Given the description of an element on the screen output the (x, y) to click on. 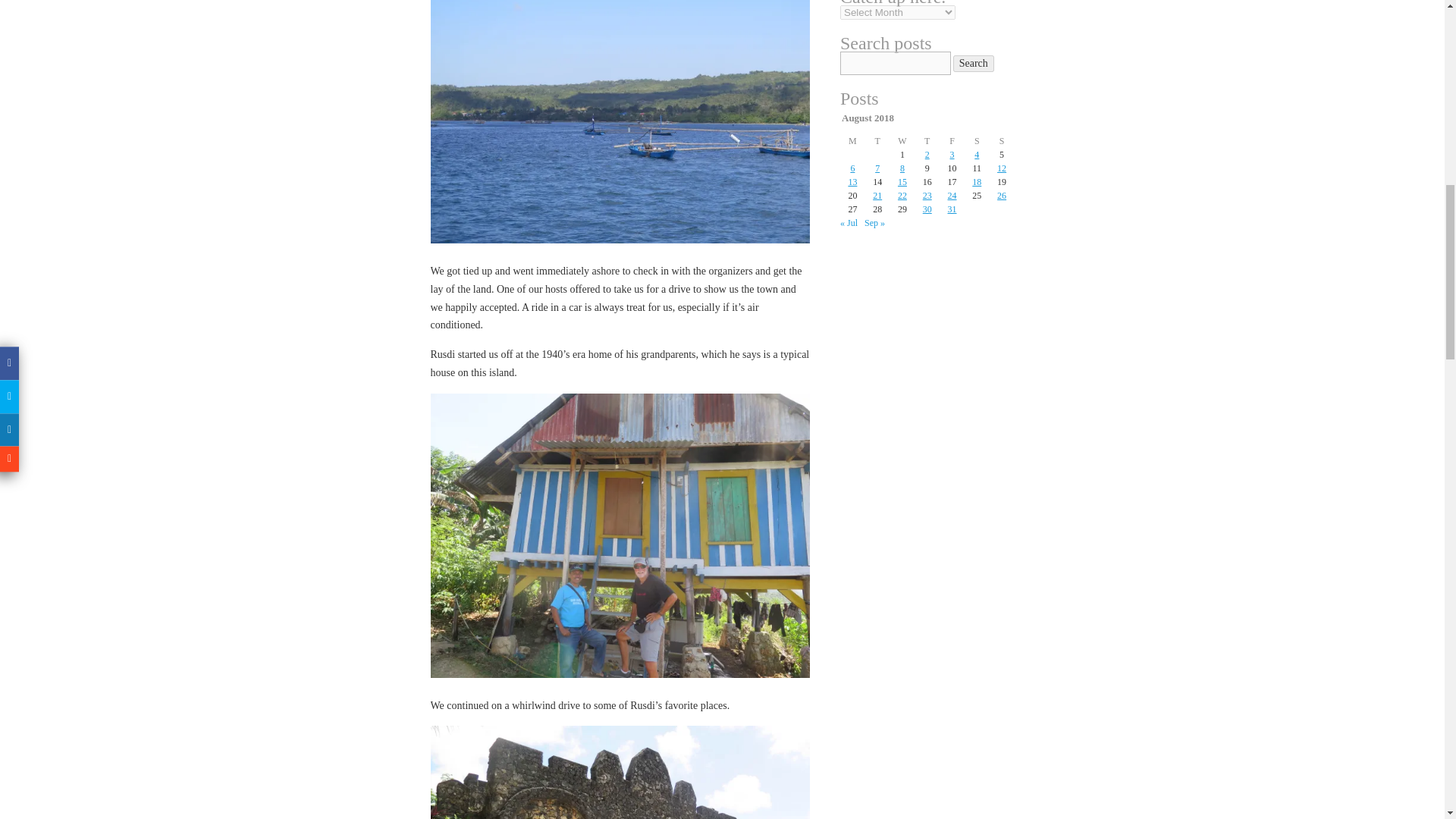
Search (973, 63)
Tuesday (876, 141)
Search (973, 63)
Monday (852, 141)
